Given the description of an element on the screen output the (x, y) to click on. 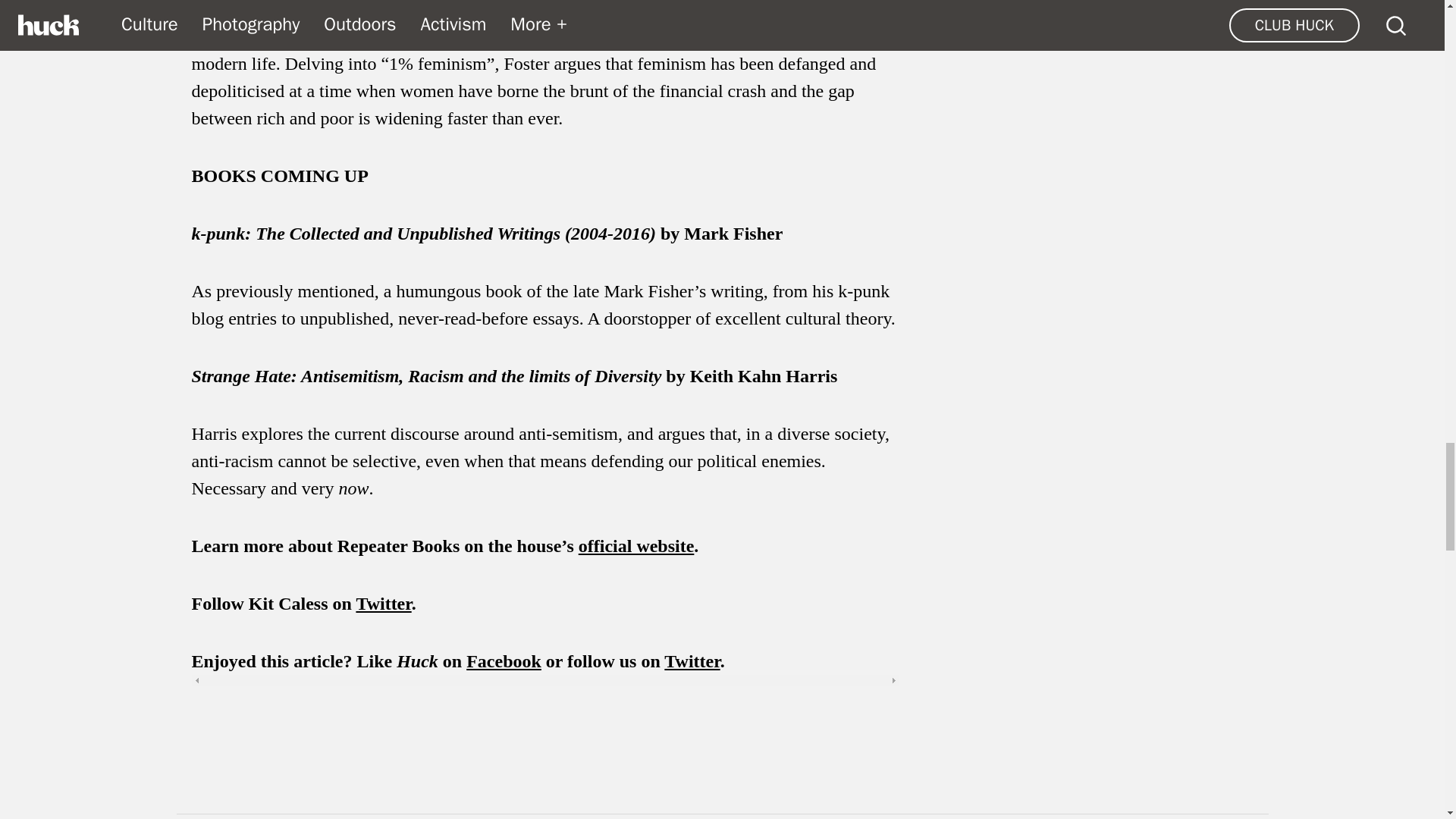
Twitter (691, 660)
Twitter (382, 603)
Facebook (503, 660)
official website (636, 546)
